Given the description of an element on the screen output the (x, y) to click on. 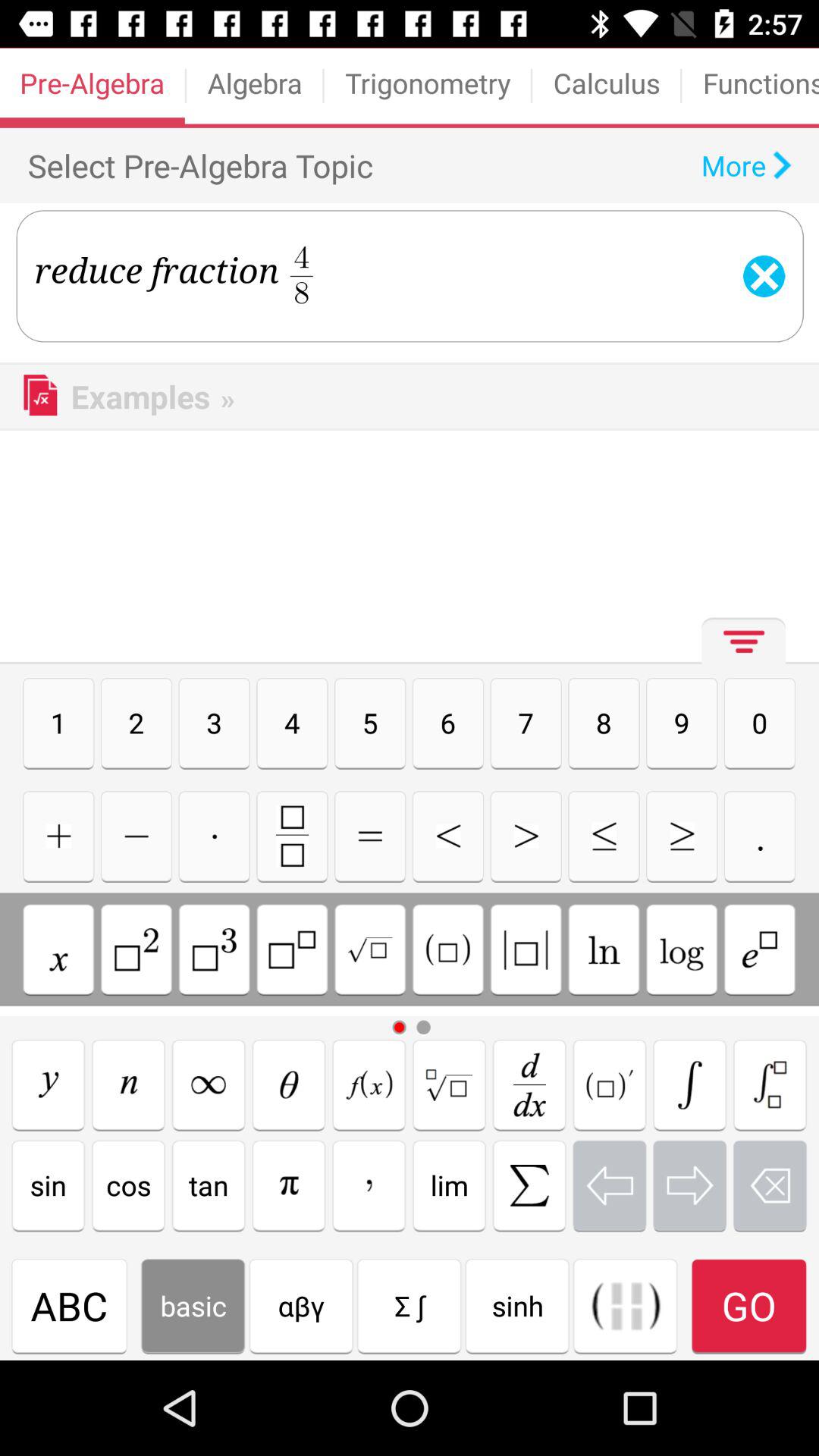
insert x variable (58, 949)
